Given the description of an element on the screen output the (x, y) to click on. 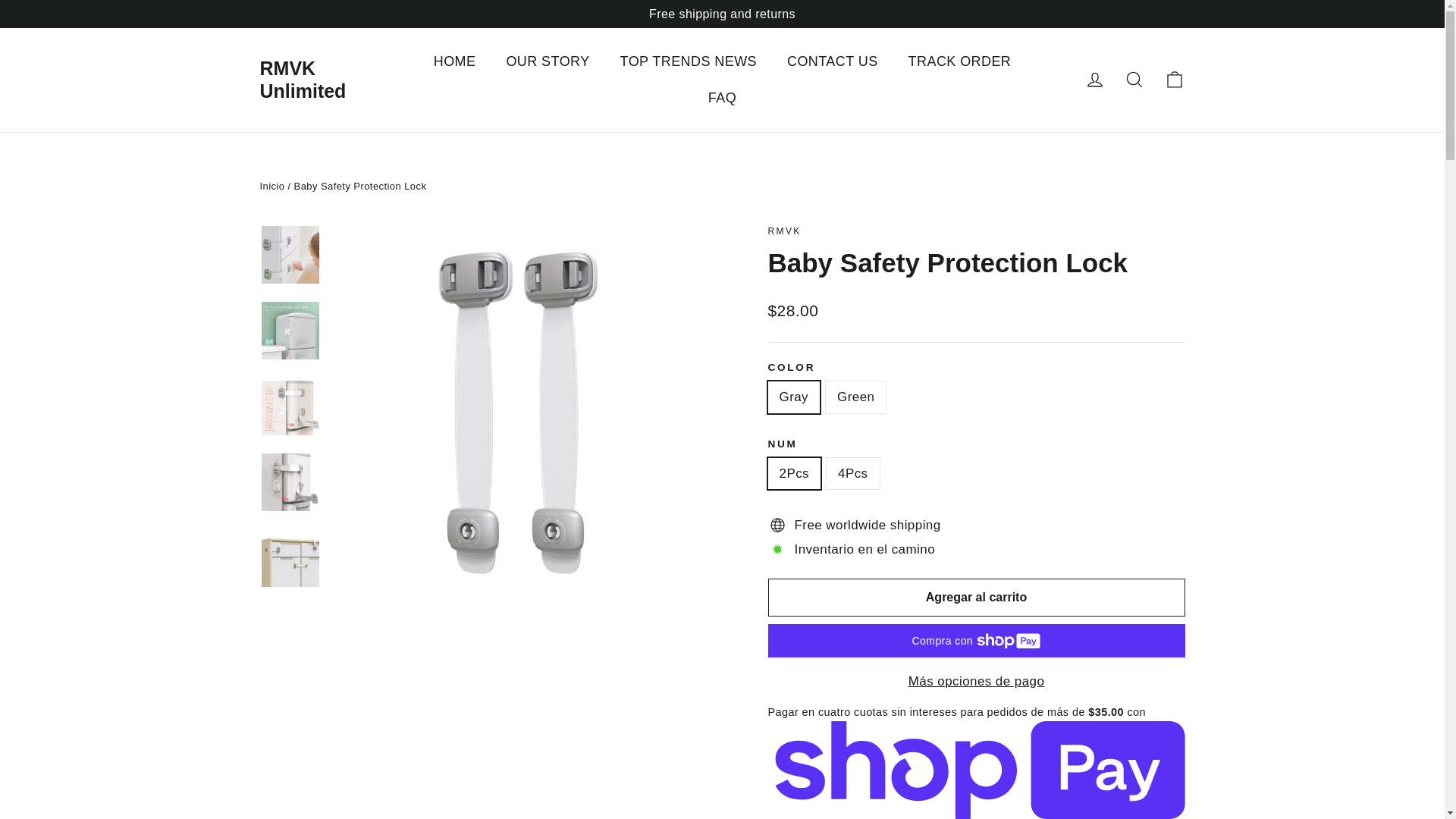
TOP TRENDS NEWS (688, 61)
FAQ (722, 98)
icon-search (1134, 79)
icon-bag-minimal (1174, 79)
HOME (455, 61)
RMVK Unlimited (1095, 79)
Inicio (1173, 79)
CONTACT US (302, 79)
account (271, 185)
RMVK (832, 61)
TRACK ORDER (1094, 79)
Gray (783, 231)
